Given the description of an element on the screen output the (x, y) to click on. 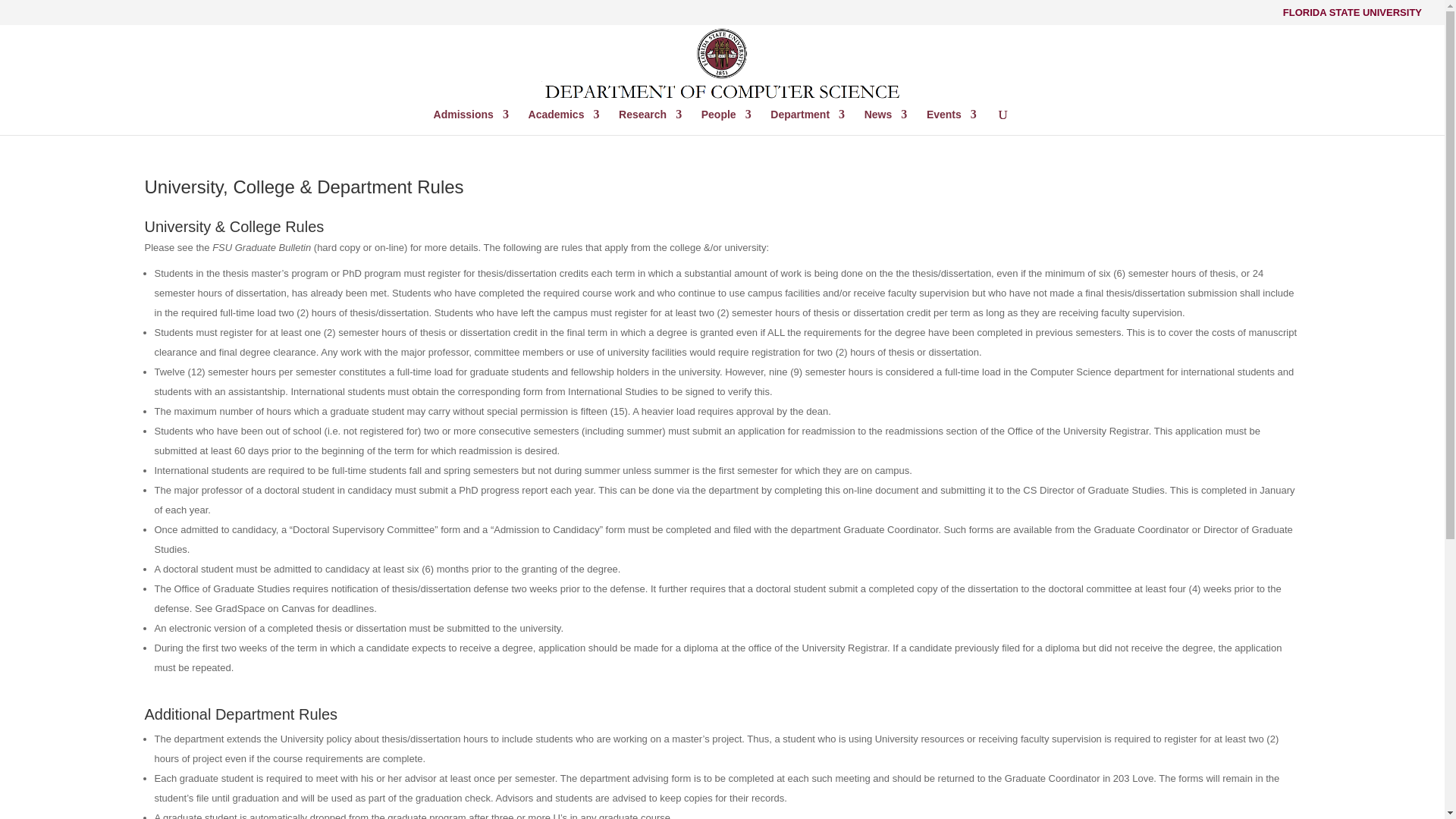
News (885, 121)
Admissions (470, 121)
People (726, 121)
FLORIDA STATE UNIVERSITY (1352, 16)
Research (649, 121)
Department (807, 121)
Academics (563, 121)
